Given the description of an element on the screen output the (x, y) to click on. 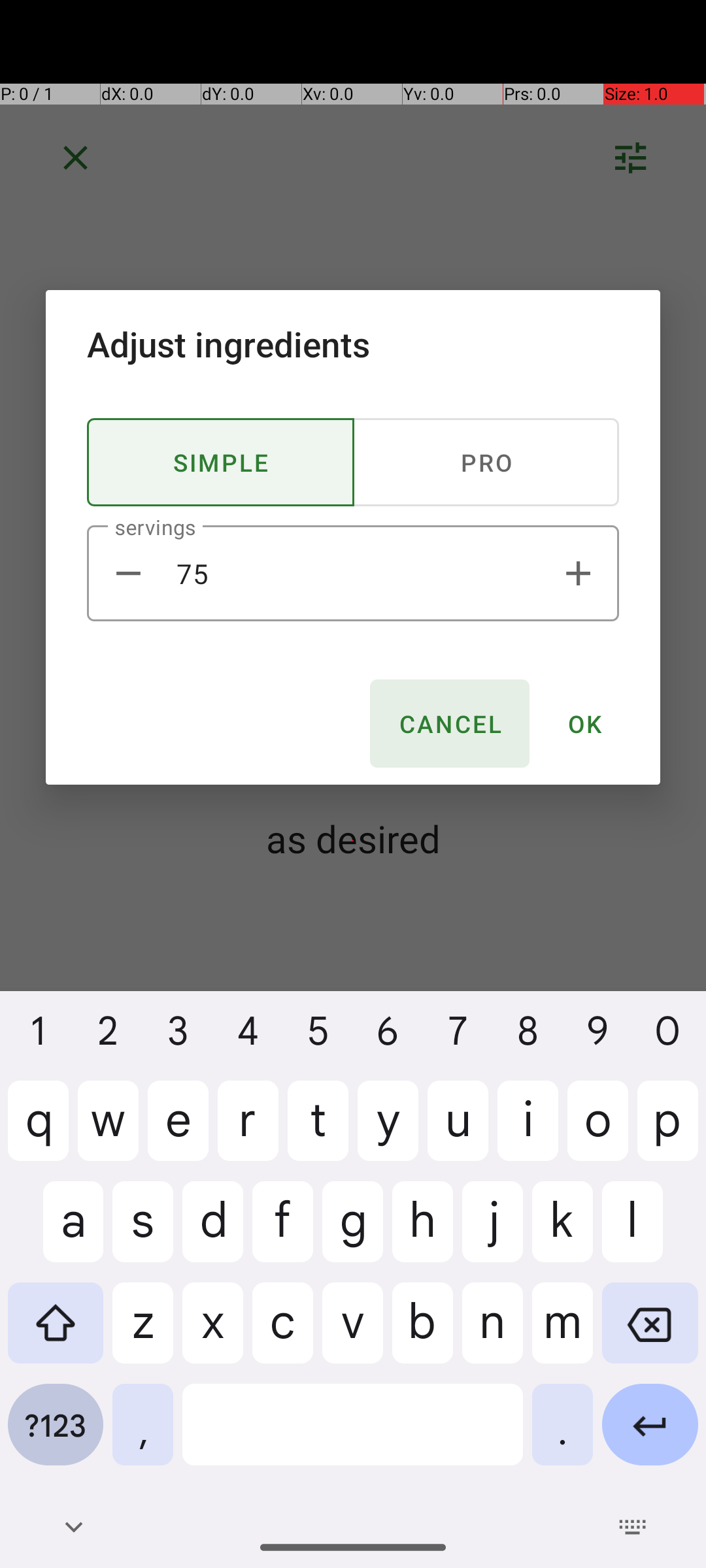
75 Element type: android.widget.EditText (352, 573)
